Given the description of an element on the screen output the (x, y) to click on. 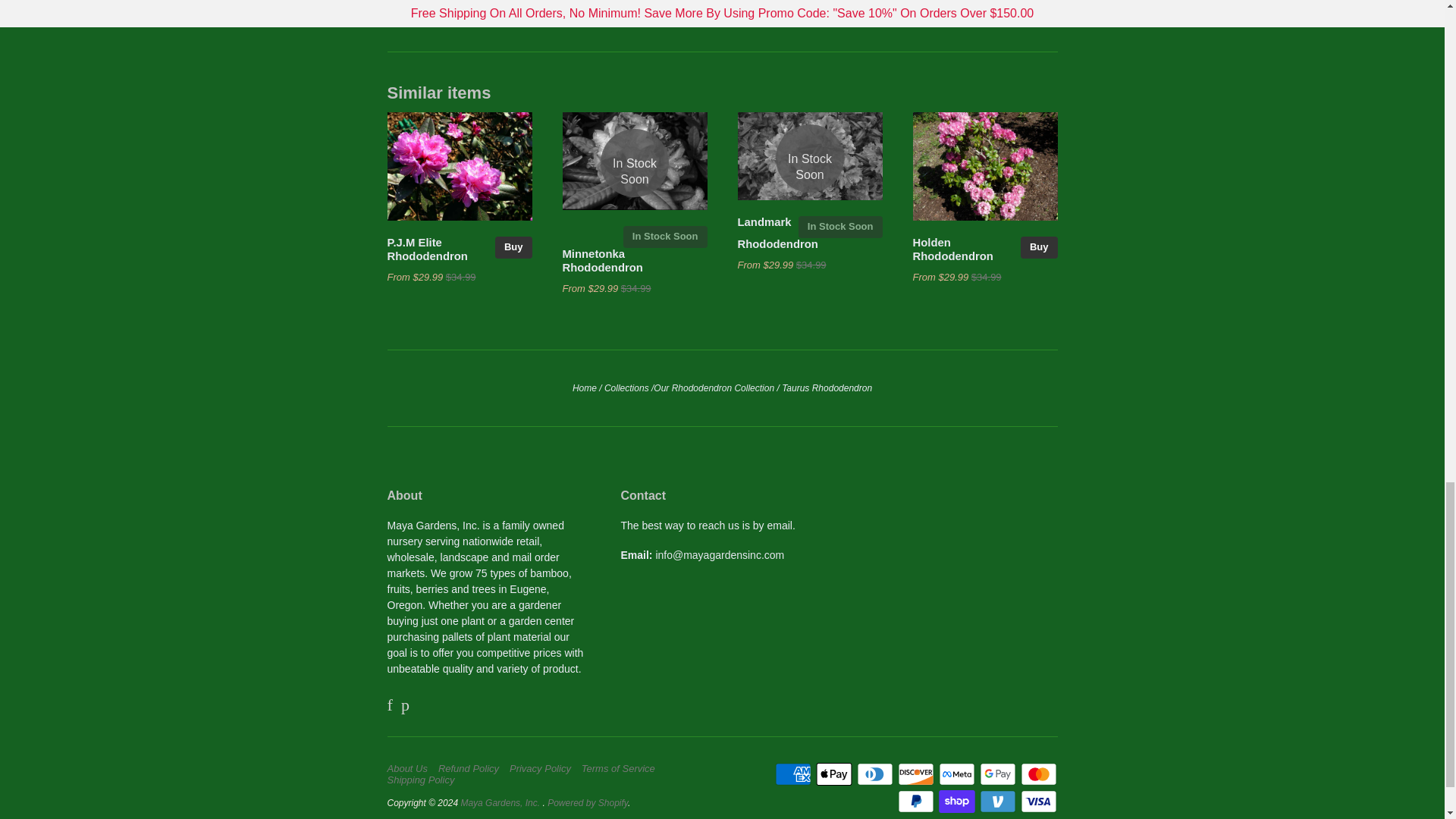
Holden Rhododendron (952, 249)
Shipping Policy (424, 779)
P.J.M Elite Rhododendron (427, 249)
Minnetonka Rhododendron (602, 260)
Buy (1039, 247)
In Stock Soon (665, 237)
In Stock Soon (839, 227)
In Stock Soon (634, 163)
In Stock Soon (809, 158)
Privacy Policy (543, 768)
